Given the description of an element on the screen output the (x, y) to click on. 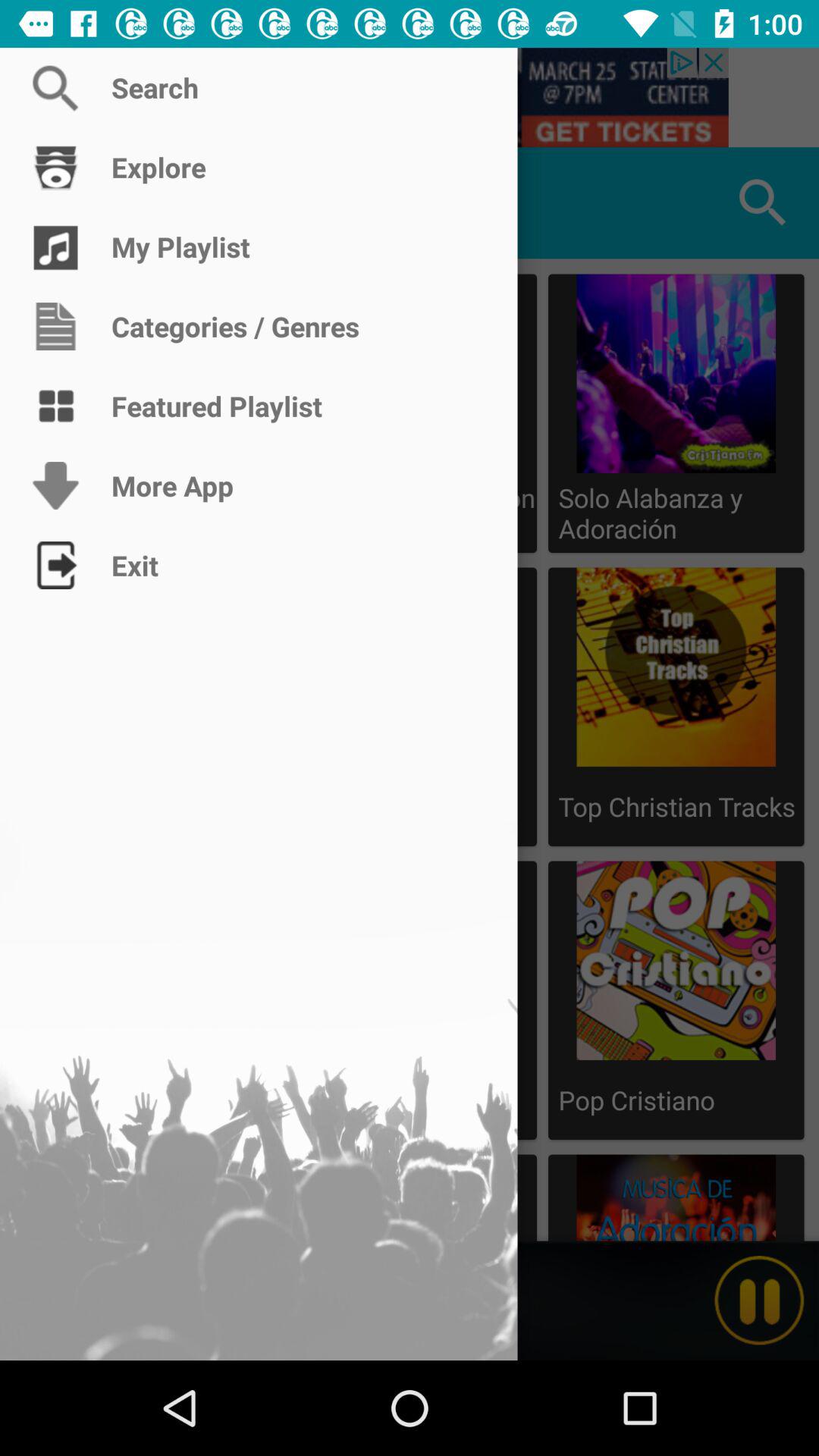
switch to play (759, 1300)
